Given the description of an element on the screen output the (x, y) to click on. 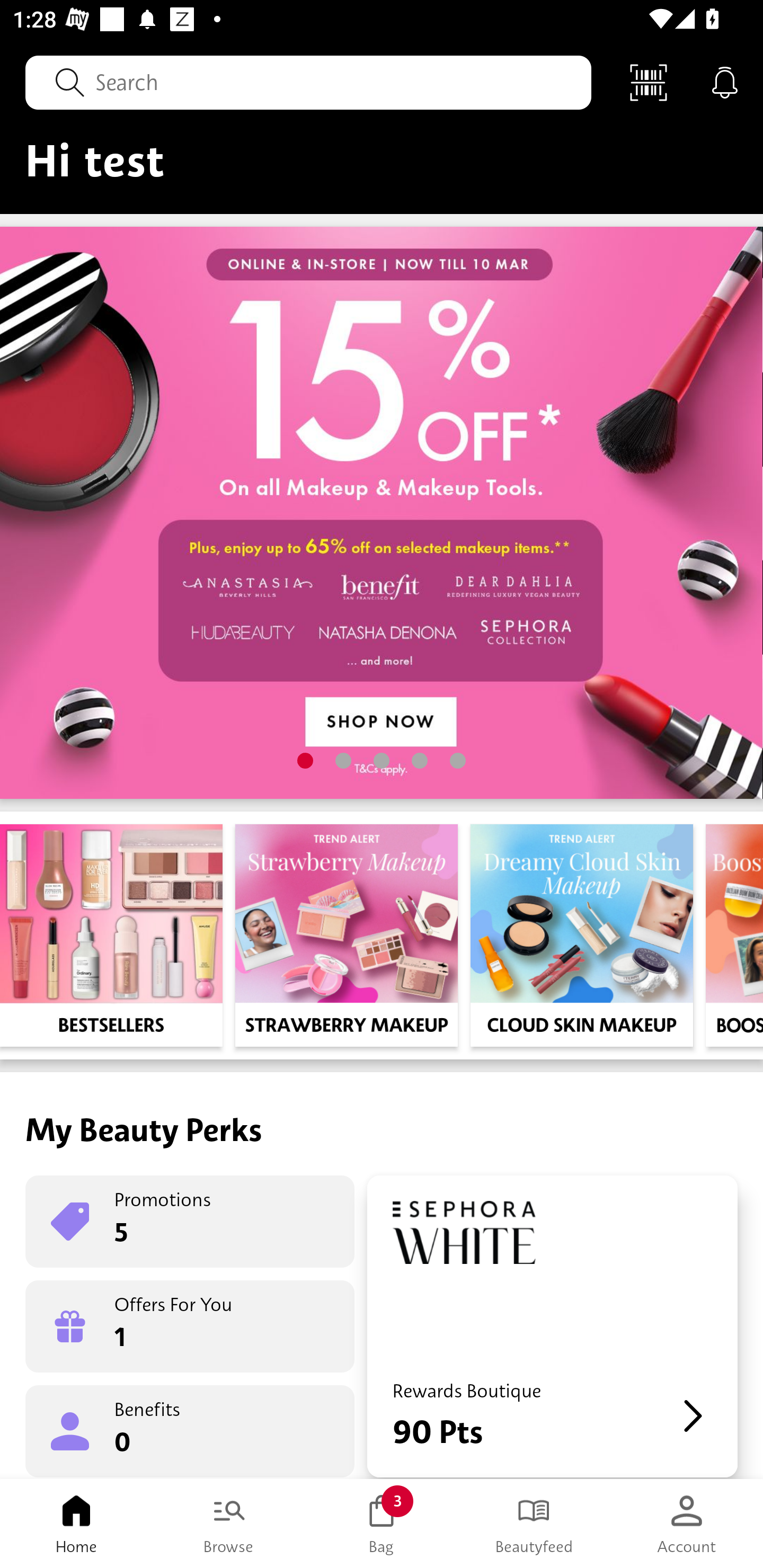
Scan Code (648, 81)
Notifications (724, 81)
Search (308, 81)
Promotions 5 (189, 1221)
Rewards Boutique 90 Pts (552, 1326)
Offers For You 1 (189, 1326)
Benefits 0 (189, 1430)
Browse (228, 1523)
Bag 3 Bag (381, 1523)
Beautyfeed (533, 1523)
Account (686, 1523)
